Given the description of an element on the screen output the (x, y) to click on. 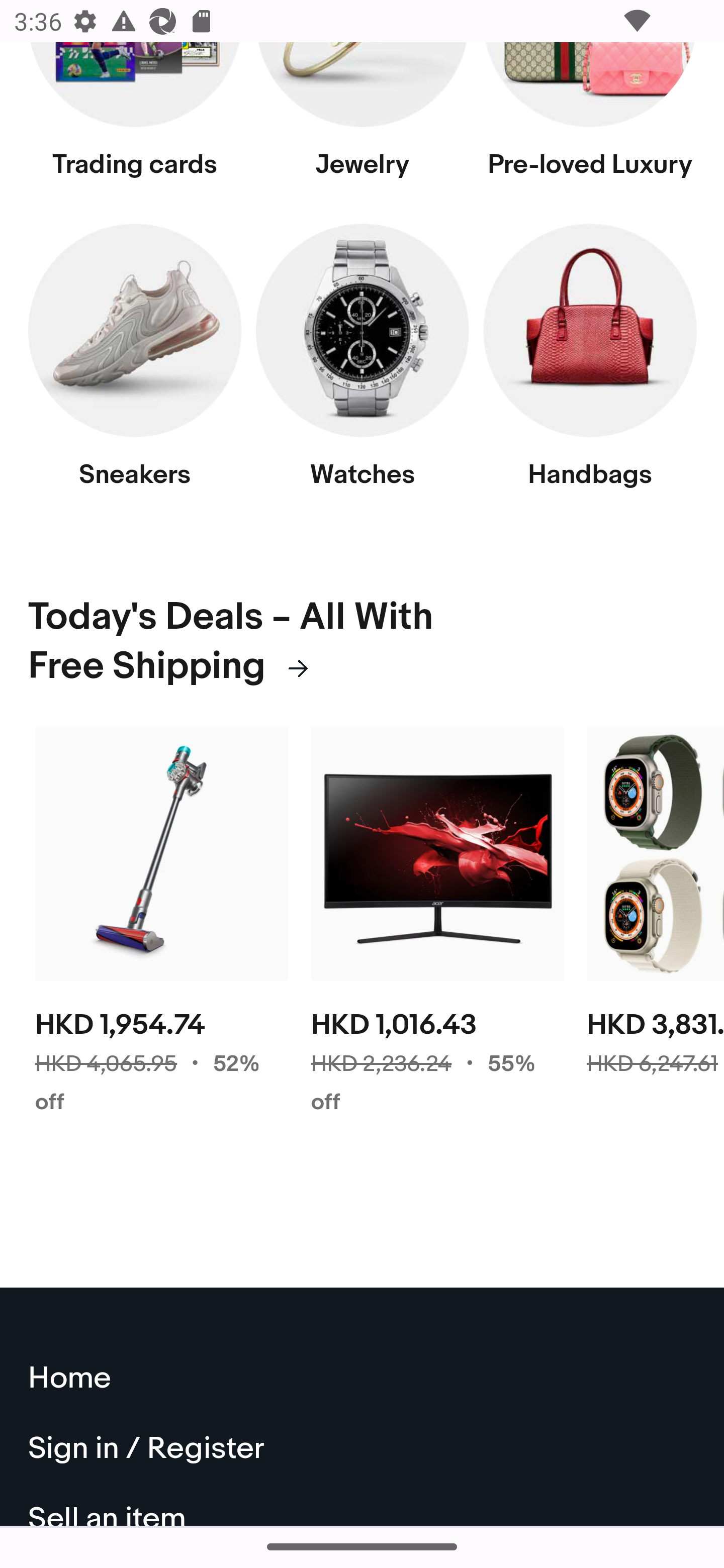
Trading cards (135, 120)
Jewelry (361, 120)
Pre-loved Luxury (590, 120)
Sneakers (135, 366)
Watches (361, 366)
Handbags (590, 366)
Home (363, 1380)
Sign in / Register (363, 1451)
Sell an item (363, 1505)
